Given the description of an element on the screen output the (x, y) to click on. 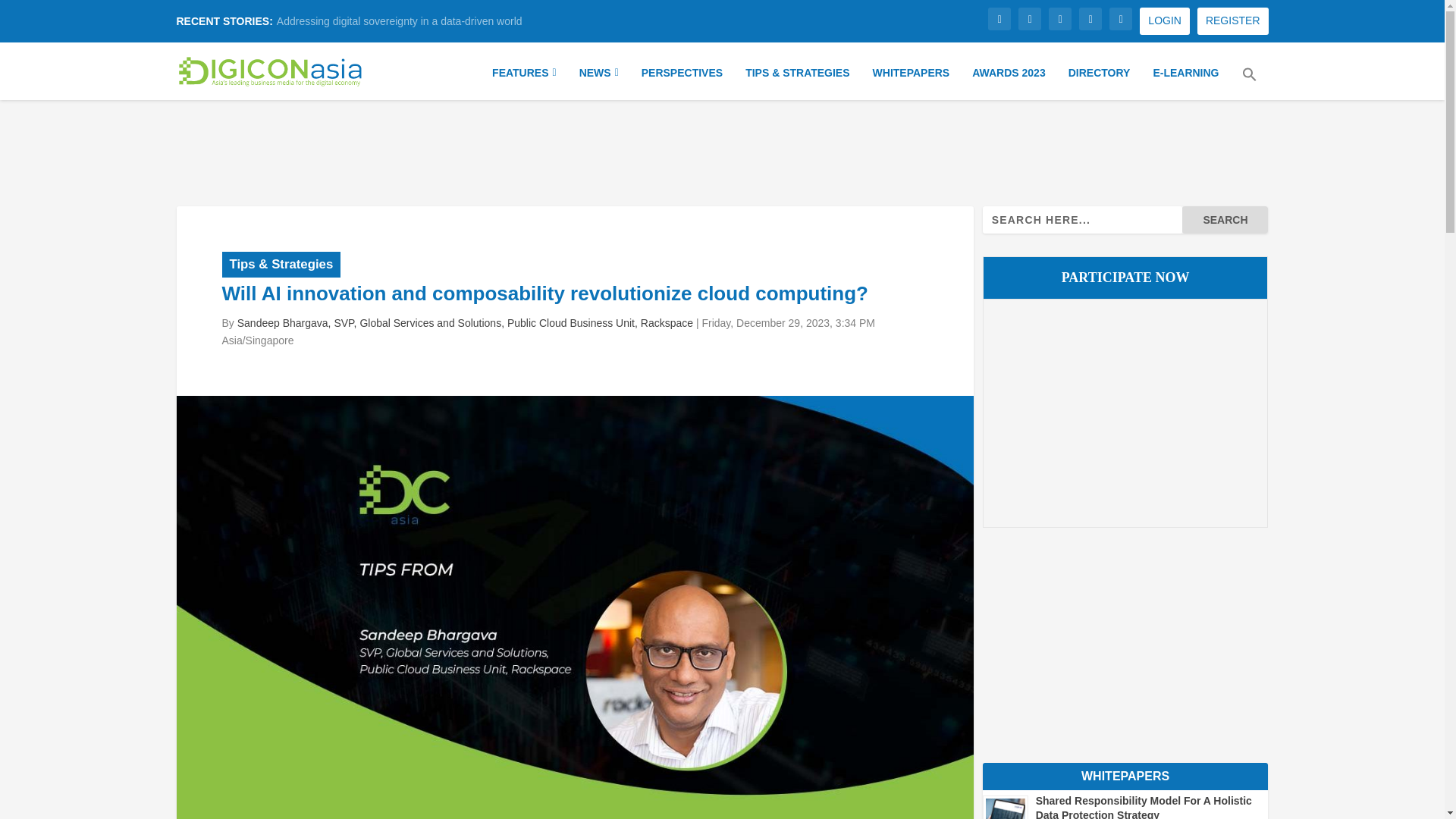
Search (1225, 219)
REGISTER (1232, 21)
Search (1225, 219)
LOGIN (1164, 21)
NEWS (598, 80)
FEATURES (524, 80)
AWARDS 2023 (1008, 80)
3rd party ad content (722, 150)
Addressing digital sovereignty in a data-driven world (399, 21)
PERSPECTIVES (682, 80)
WHITEPAPERS (911, 80)
